Given the description of an element on the screen output the (x, y) to click on. 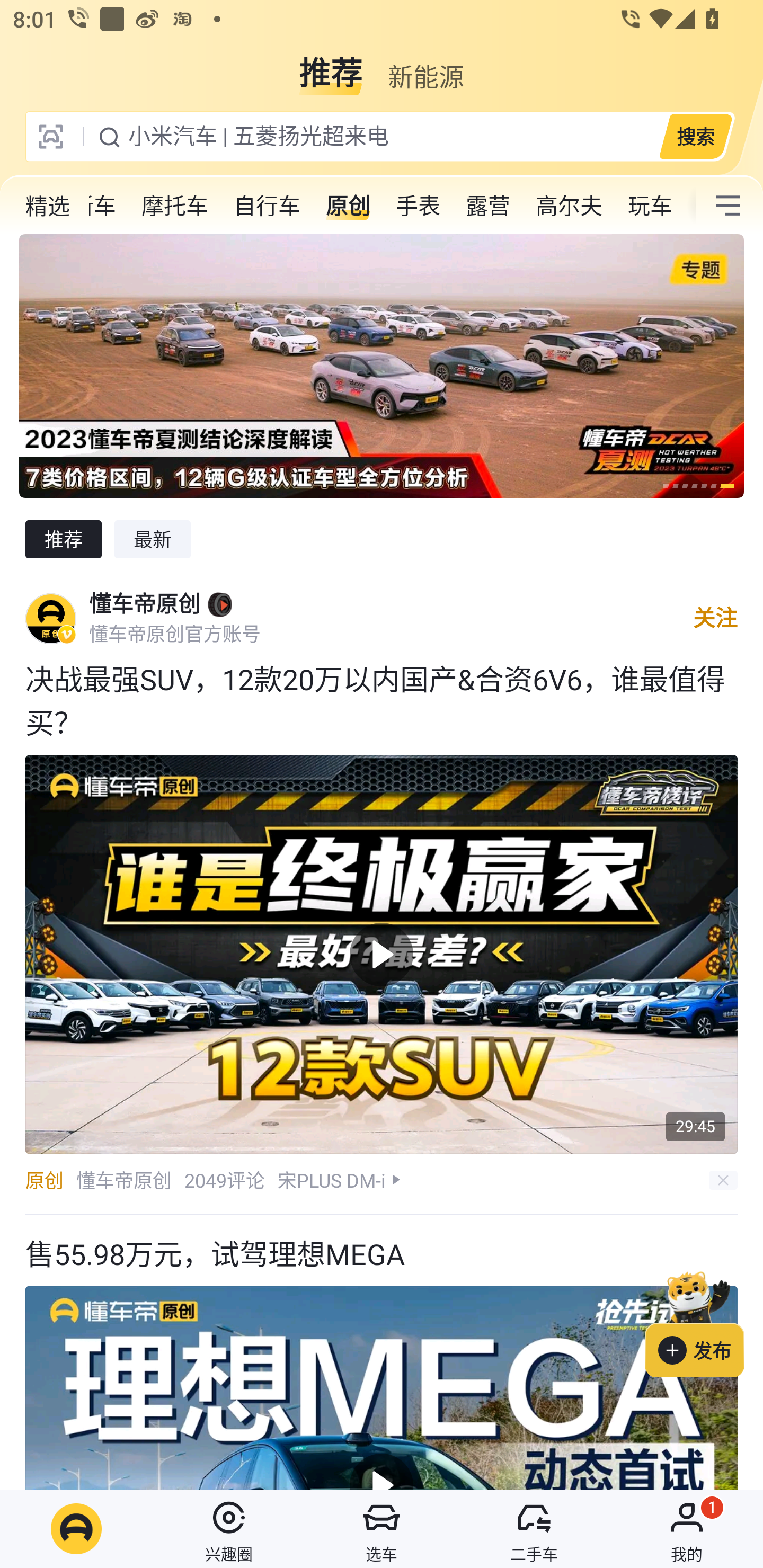
推荐 (330, 65)
新能源 (425, 65)
搜索 (695, 136)
摩托车 (174, 205)
自行车 (266, 205)
原创 (347, 205)
手表 (418, 205)
露营 (487, 205)
高尔夫 (568, 205)
玩车 (649, 205)
 (727, 205)
精选 (47, 206)
推荐 (63, 539)
最新 (152, 539)
懂车帝原创 (144, 604)
关注 (714, 618)
原创 (44, 1179)
宋PLUS DM-i (331, 1179)
售55.98万元，试驾理想MEGA  (381, 1352)
发布 (704, 1320)
 兴趣圈 (228, 1528)
 选车 (381, 1528)
 二手车 (533, 1528)
 我的 (686, 1528)
